Given the description of an element on the screen output the (x, y) to click on. 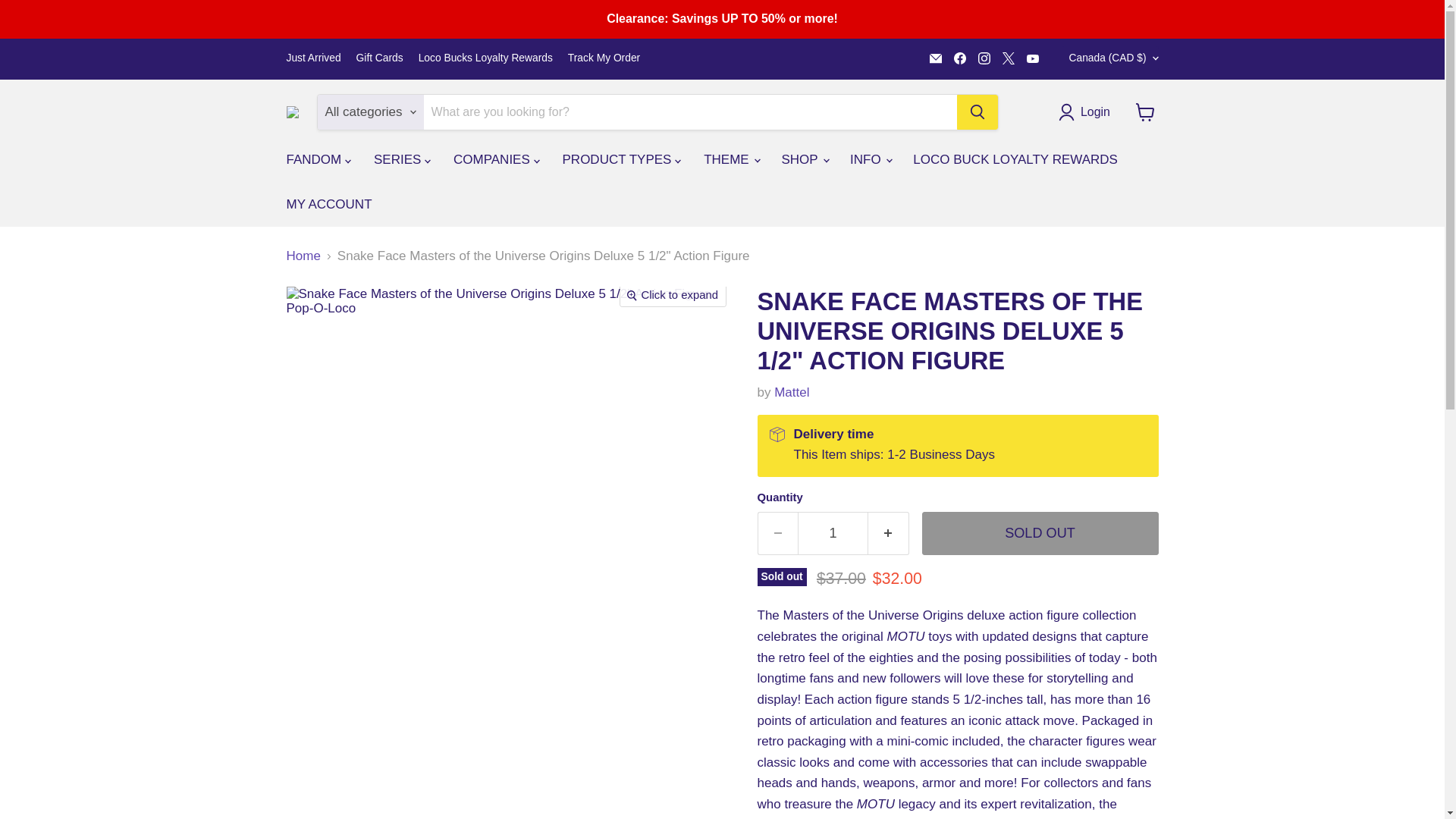
Find us on X (1008, 57)
Find us on YouTube (1032, 57)
Mattel (791, 391)
Gift Cards (379, 58)
Find us on Instagram (984, 57)
X (1008, 57)
Email (935, 57)
Find us on Facebook (960, 57)
Facebook (960, 57)
1 (832, 533)
